Given the description of an element on the screen output the (x, y) to click on. 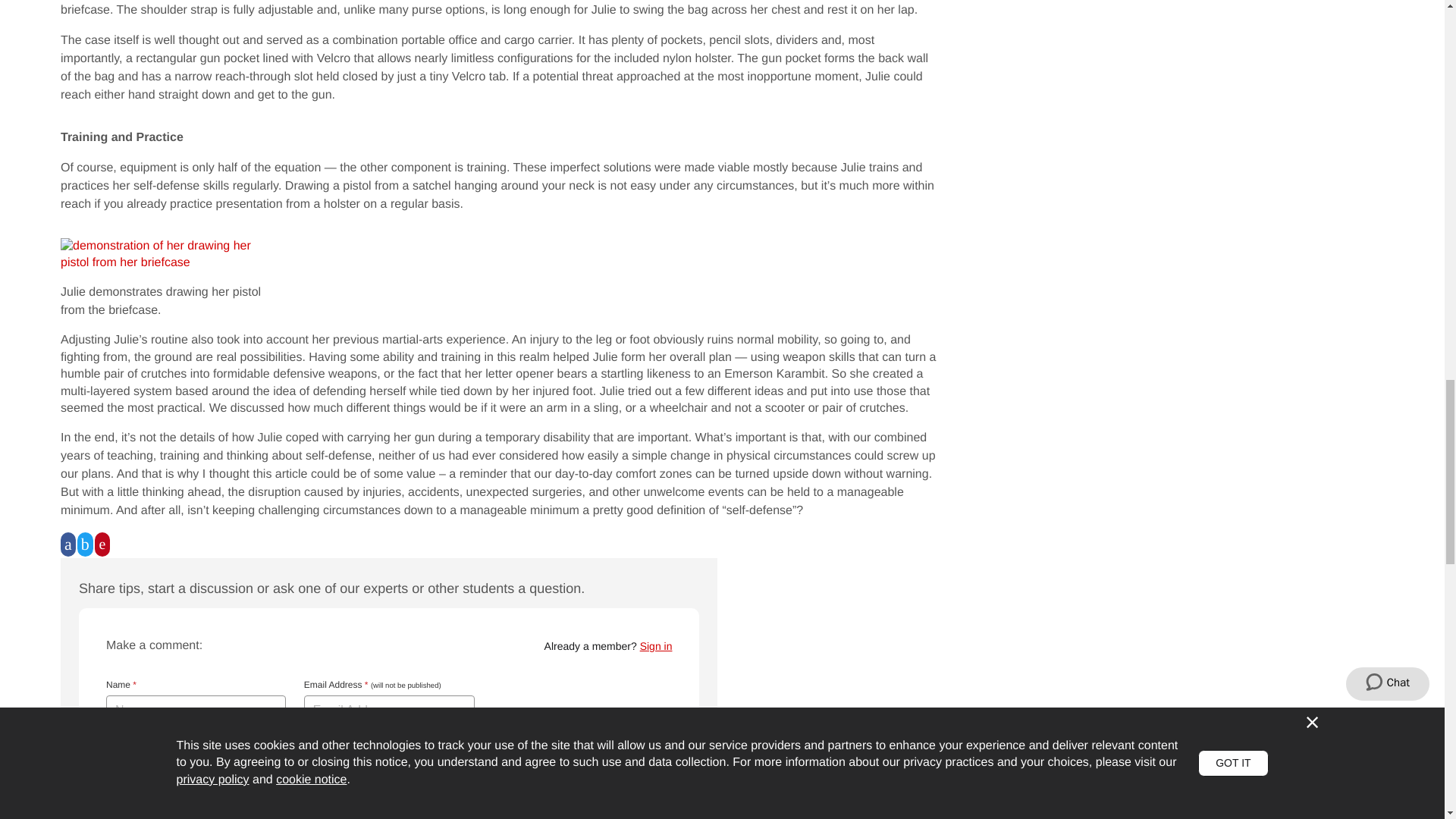
Sign in (656, 645)
